Given the description of an element on the screen output the (x, y) to click on. 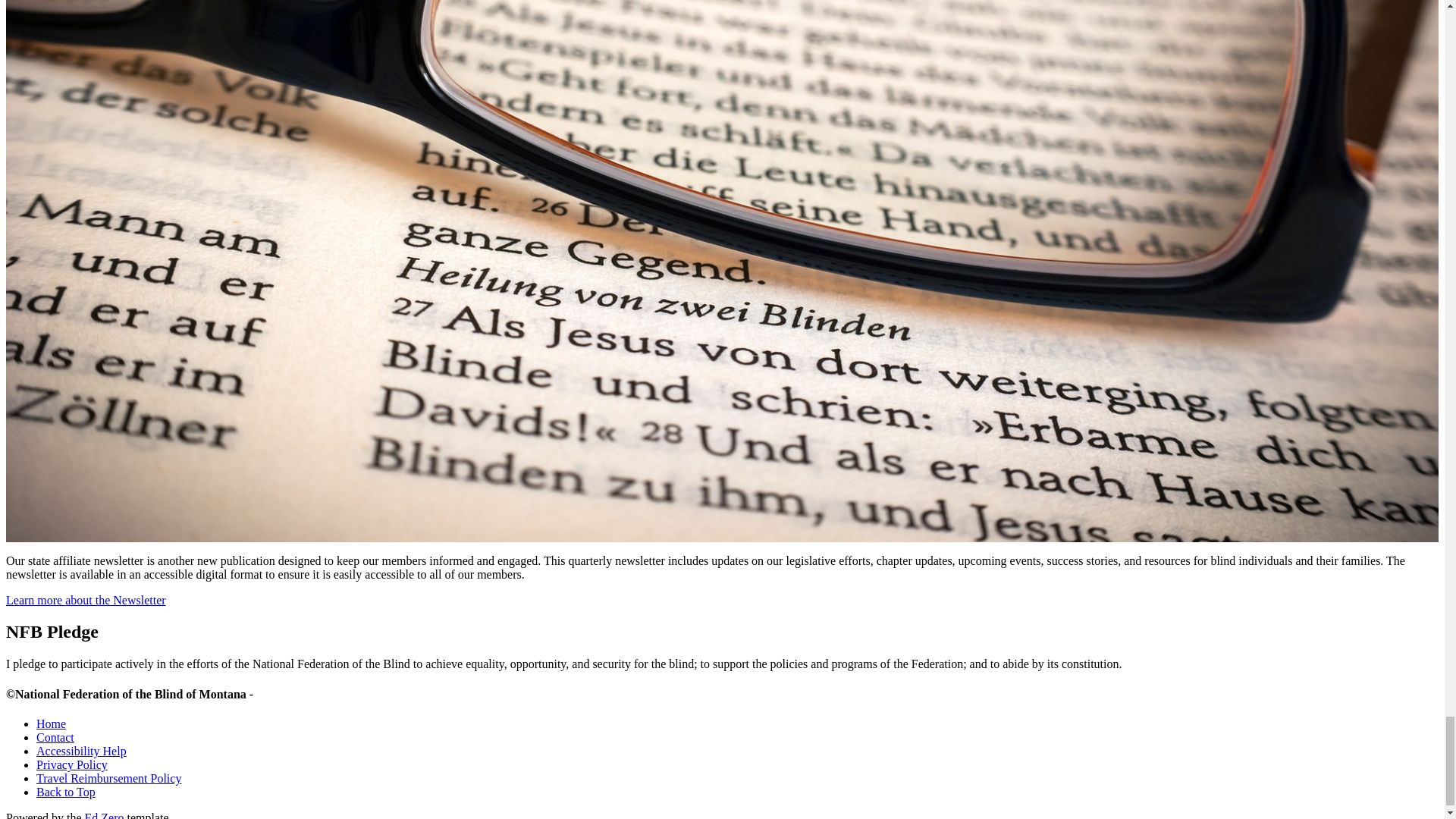
Privacy Policy (71, 764)
Back to Top (66, 791)
Accessibility Help (81, 750)
Home (50, 723)
Contact (55, 737)
Learn more about the Newsletter (85, 599)
Travel Reimbursement Policy (108, 778)
